Given the description of an element on the screen output the (x, y) to click on. 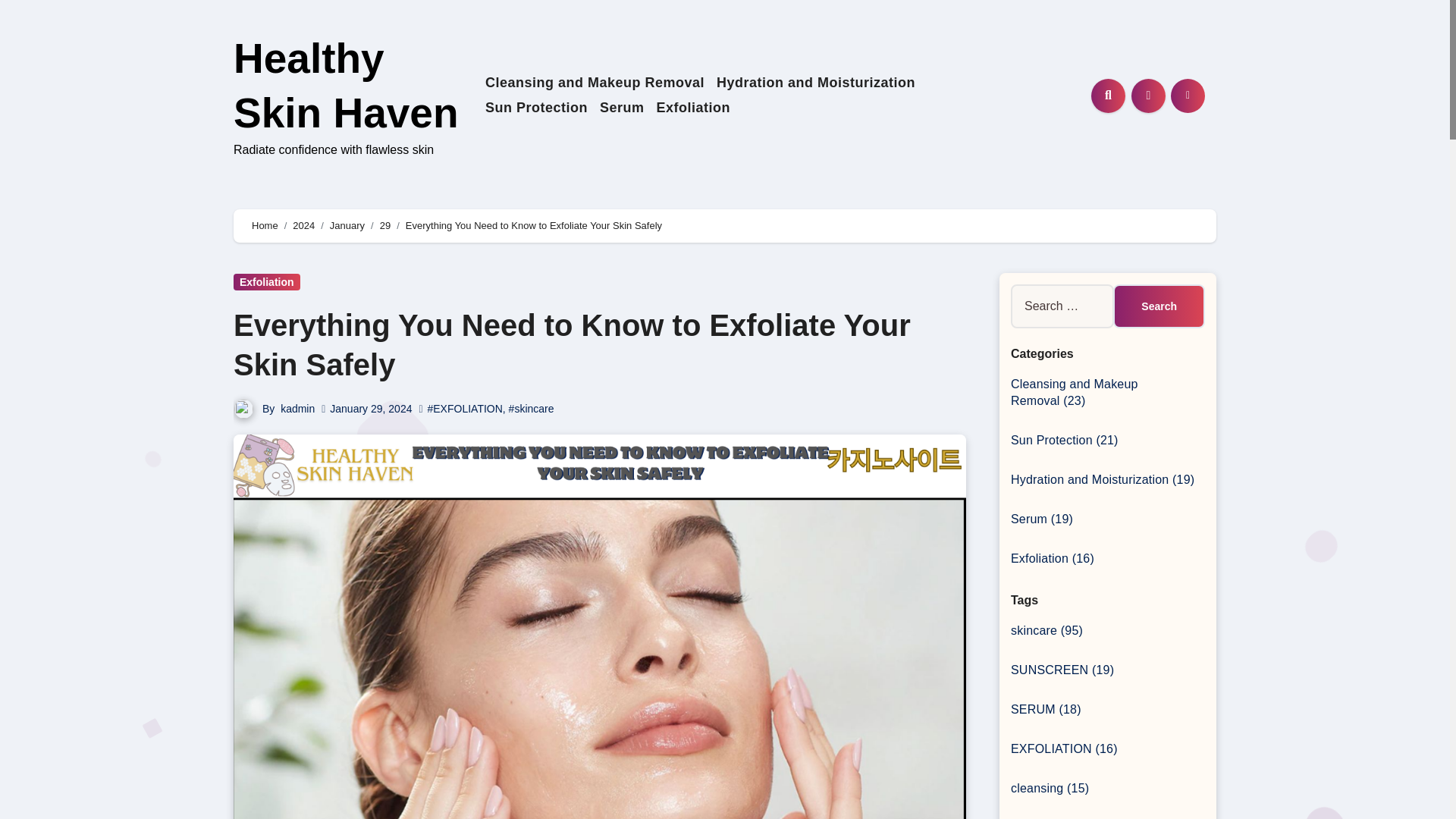
29 (385, 225)
2024 (303, 225)
Exfoliation (693, 108)
Sun Protection (536, 108)
Search (1159, 306)
Exfoliation (693, 108)
Exfoliation (265, 281)
Hydration and Moisturization (815, 82)
Search (1159, 306)
kadmin (297, 408)
Home (264, 225)
Sun Protection (536, 108)
Serum (622, 108)
Hydration and Moisturization (815, 82)
